Given the description of an element on the screen output the (x, y) to click on. 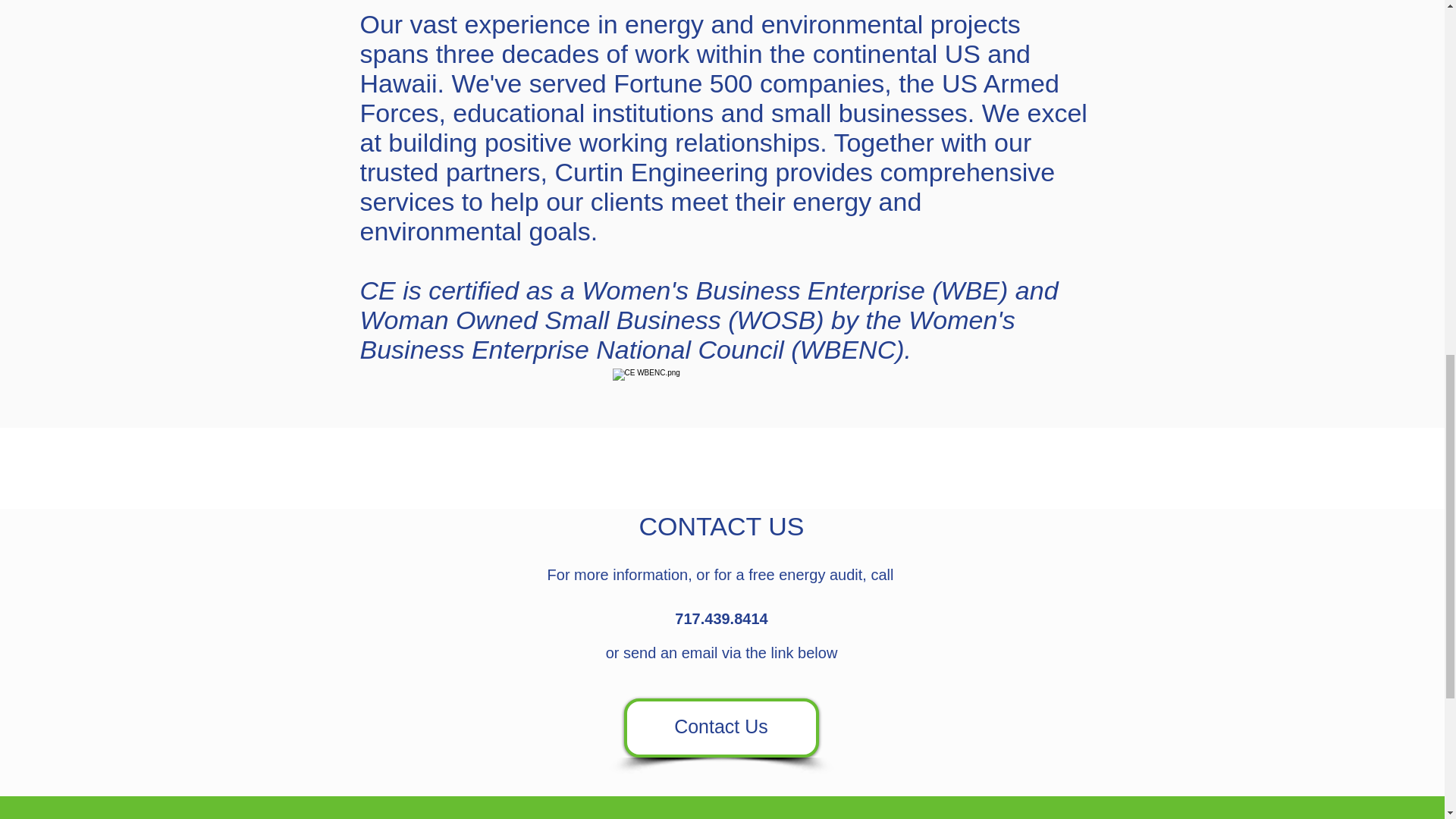
Contact Us (720, 727)
